Given the description of an element on the screen output the (x, y) to click on. 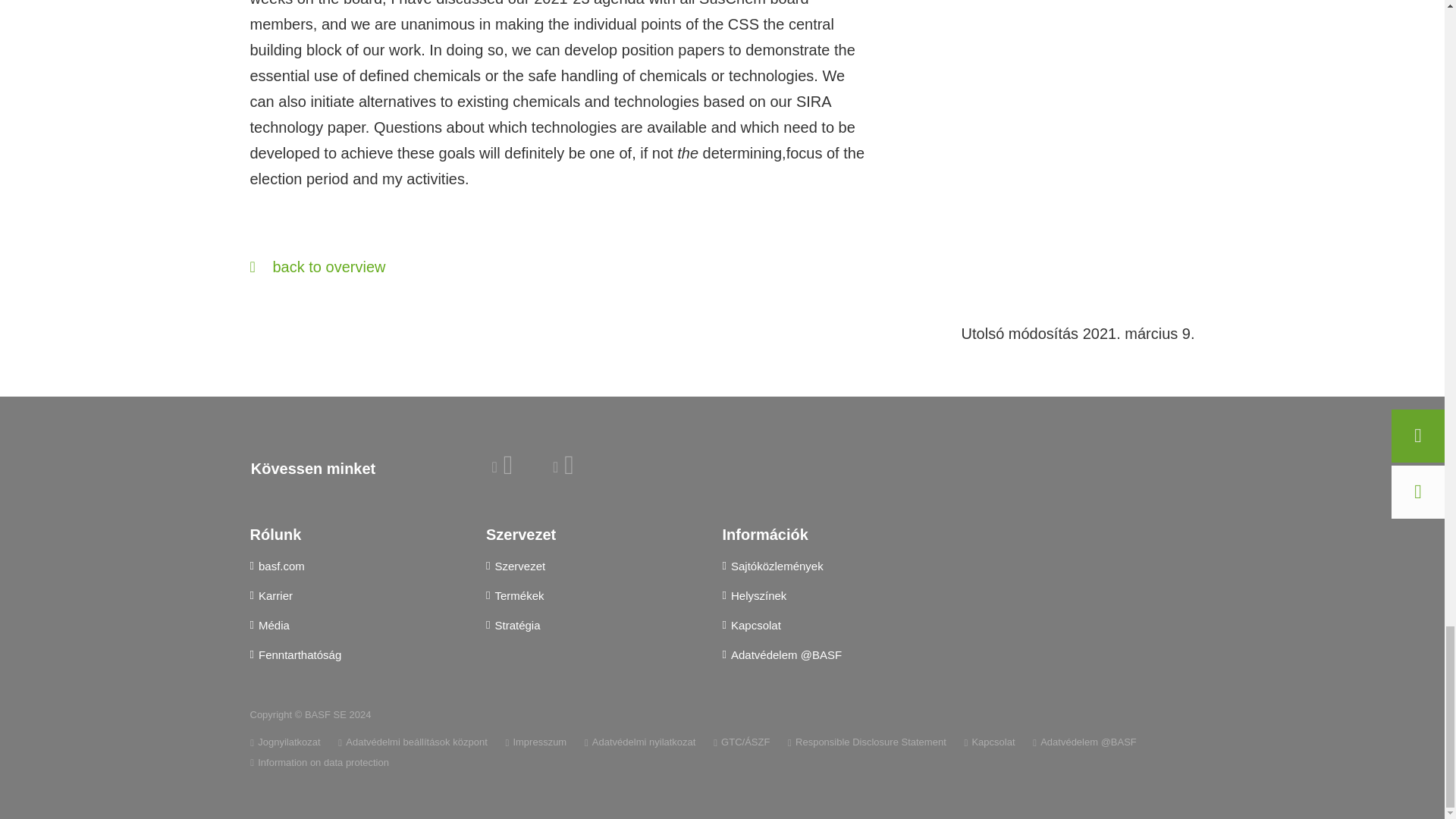
Kapcsolat (988, 741)
Responsible Disclosure Statement (866, 741)
Jognyilatkozat (285, 741)
Impresszum (535, 741)
